Given the description of an element on the screen output the (x, y) to click on. 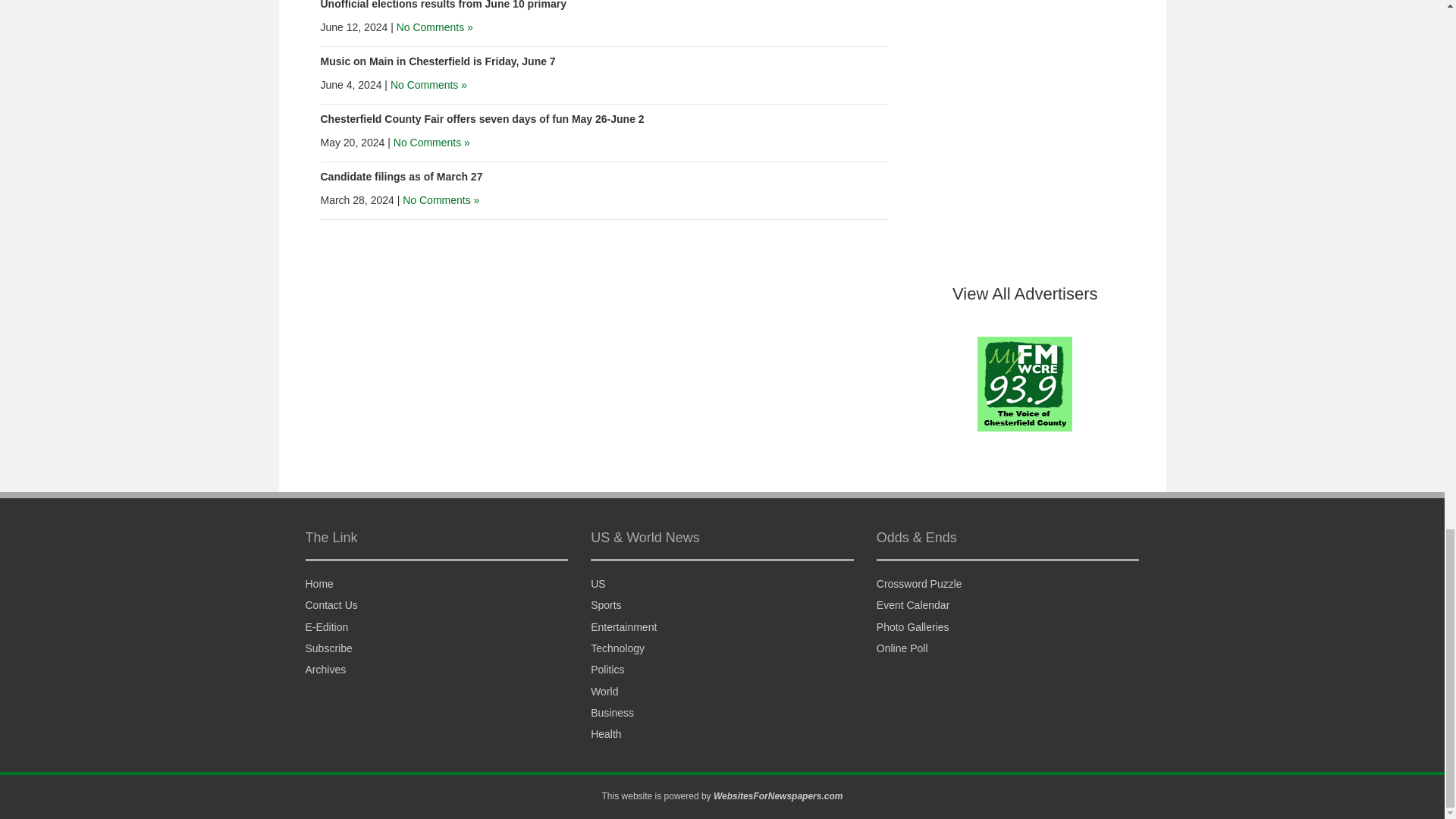
Candidate filings as of March 27 (400, 176)
Unofficial elections results from June 10 primary (443, 4)
Music on Main in Chesterfield is Friday, June 7 (437, 61)
